Given the description of an element on the screen output the (x, y) to click on. 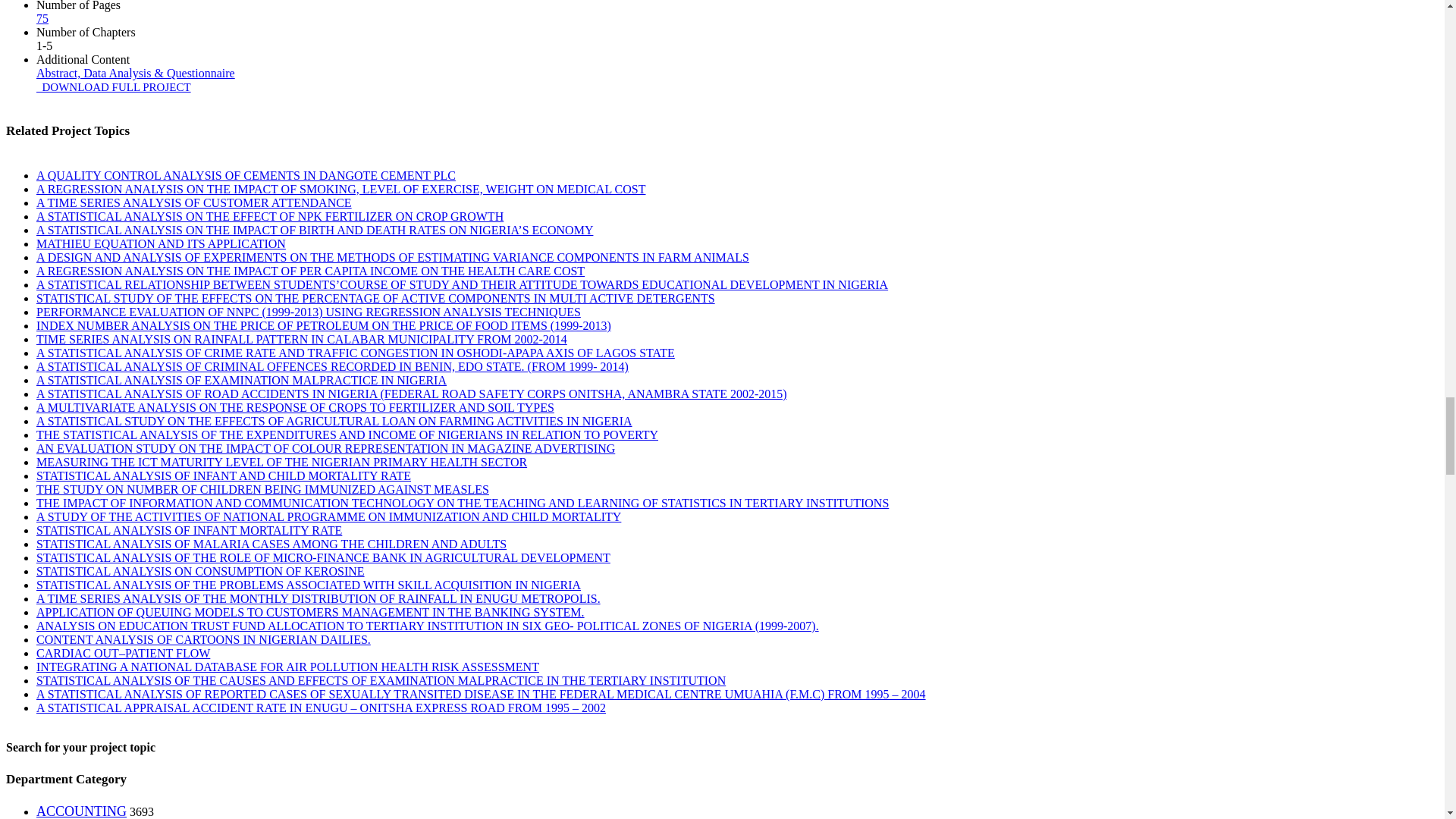
A TIME SERIES ANALYSIS OF CUSTOMER ATTENDANCE (194, 202)
A QUALITY CONTROL ANALYSIS OF CEMENTS IN DANGOTE CEMENT PLC (245, 174)
MATHIEU EQUATION AND ITS APPLICATION (160, 243)
A STATISTICAL ANALYSIS OF EXAMINATION MALPRACTICE IN NIGERIA (241, 379)
